Given the description of an element on the screen output the (x, y) to click on. 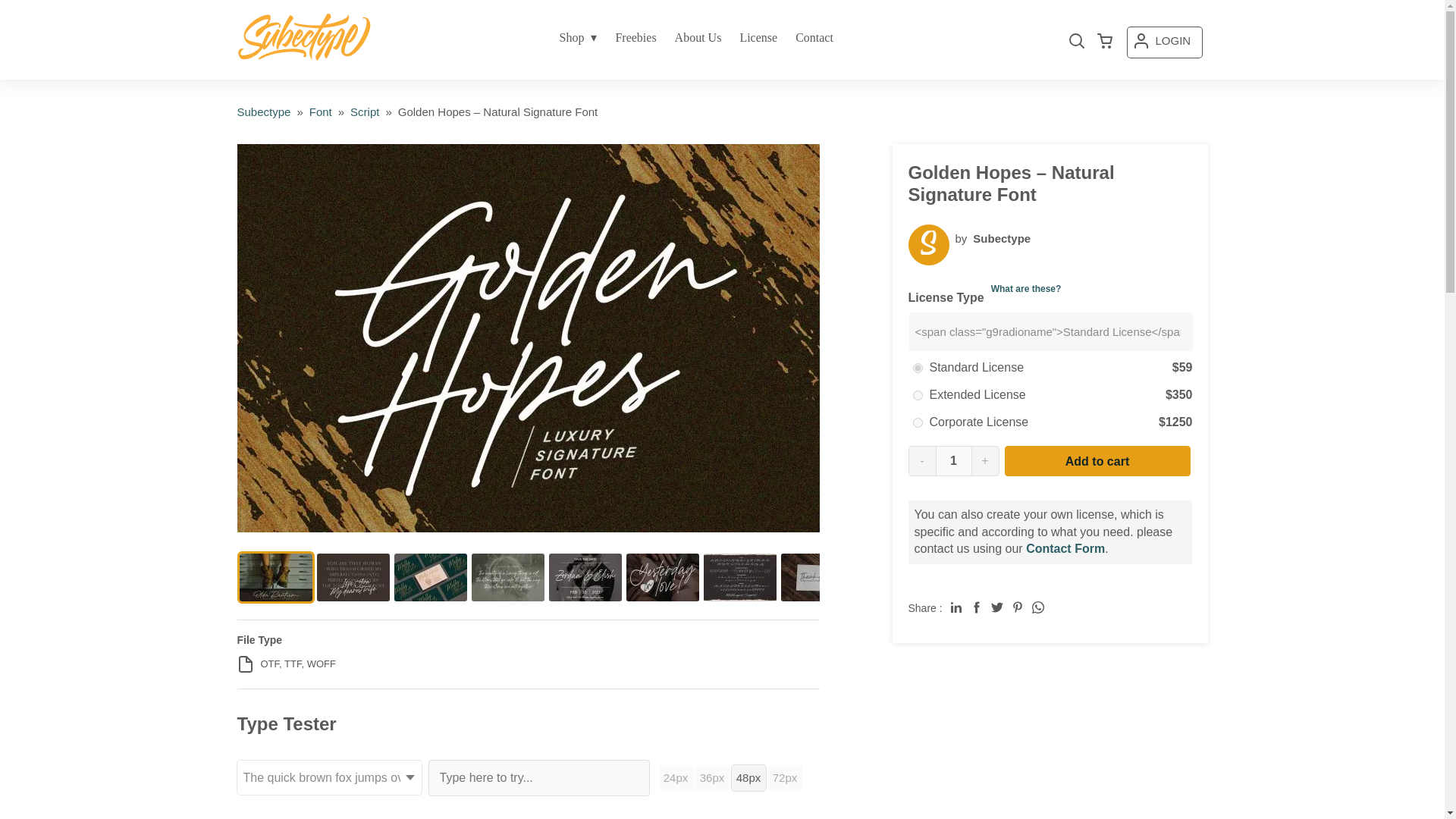
Add to cart (1096, 460)
License (758, 37)
Homepage (262, 111)
Login to Customer Account (1163, 42)
Subectype (262, 111)
Contact (814, 37)
Font (319, 111)
Share to Pinterest (1017, 607)
1 (953, 460)
Share to Linkedin (955, 607)
What are these? (1026, 288)
Shop (578, 37)
standard-license (917, 368)
LOGIN (1163, 42)
Share to Whatsapp Contact (1037, 607)
